Given the description of an element on the screen output the (x, y) to click on. 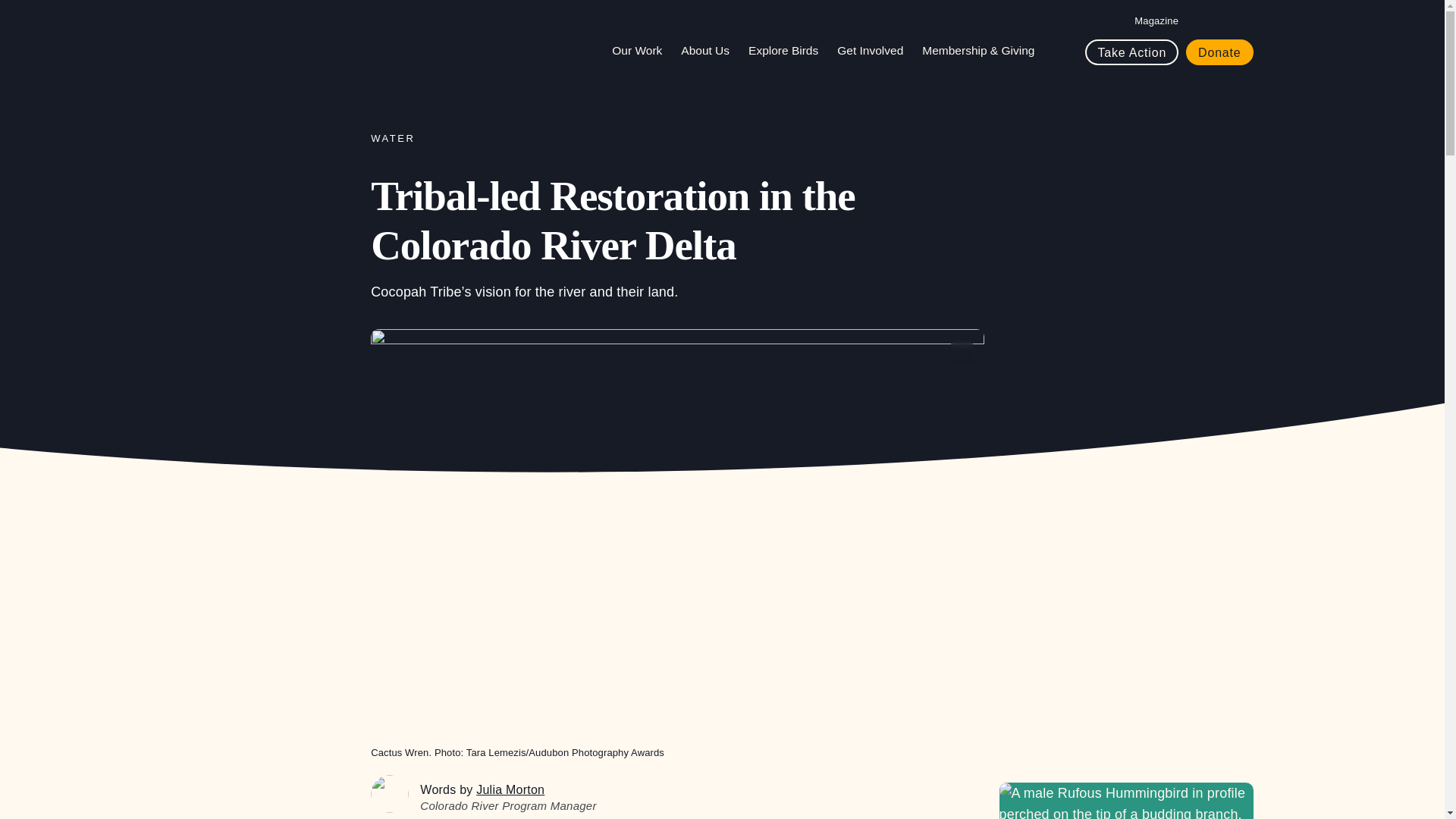
Open Gallery (961, 352)
Magazine (1155, 20)
Visit Birds Tell Us to Act on Climate page (1125, 800)
Our Work (641, 50)
About Us (711, 50)
Audubon (266, 37)
Explore Birds (788, 50)
Julia Morton (390, 793)
